Given the description of an element on the screen output the (x, y) to click on. 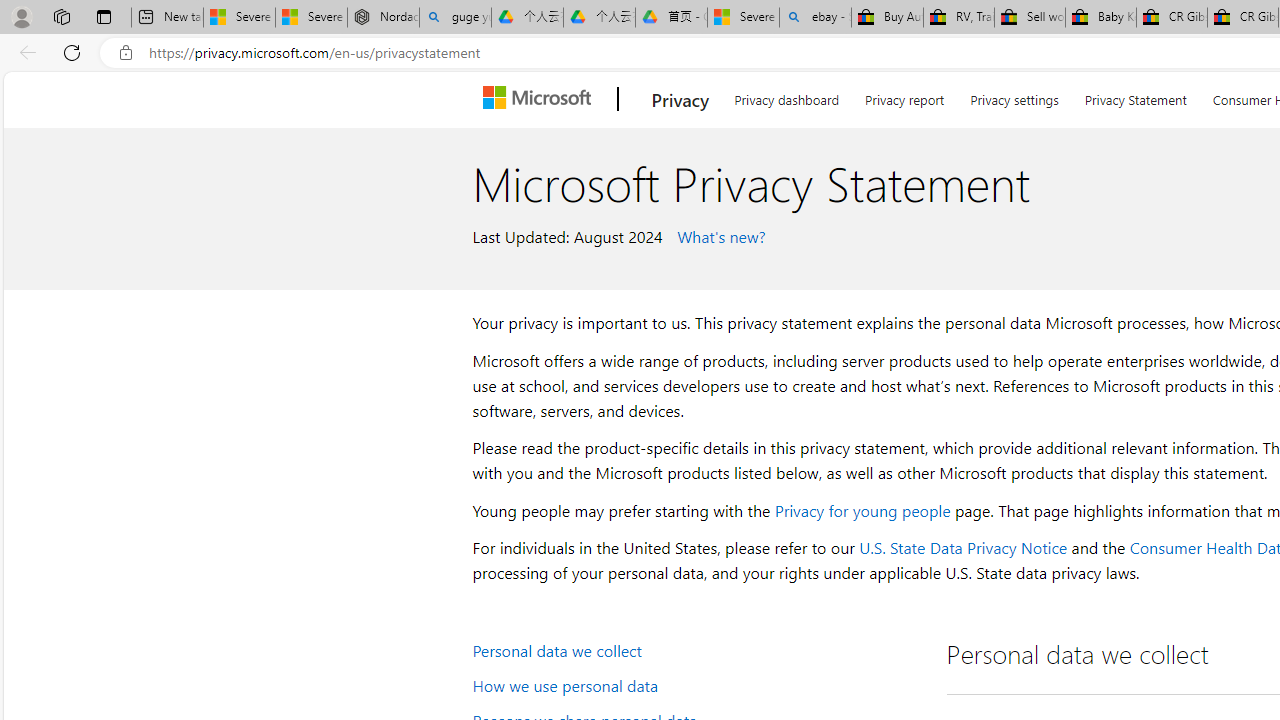
Privacy Statement (1135, 96)
guge yunpan - Search (455, 17)
